Given the description of an element on the screen output the (x, y) to click on. 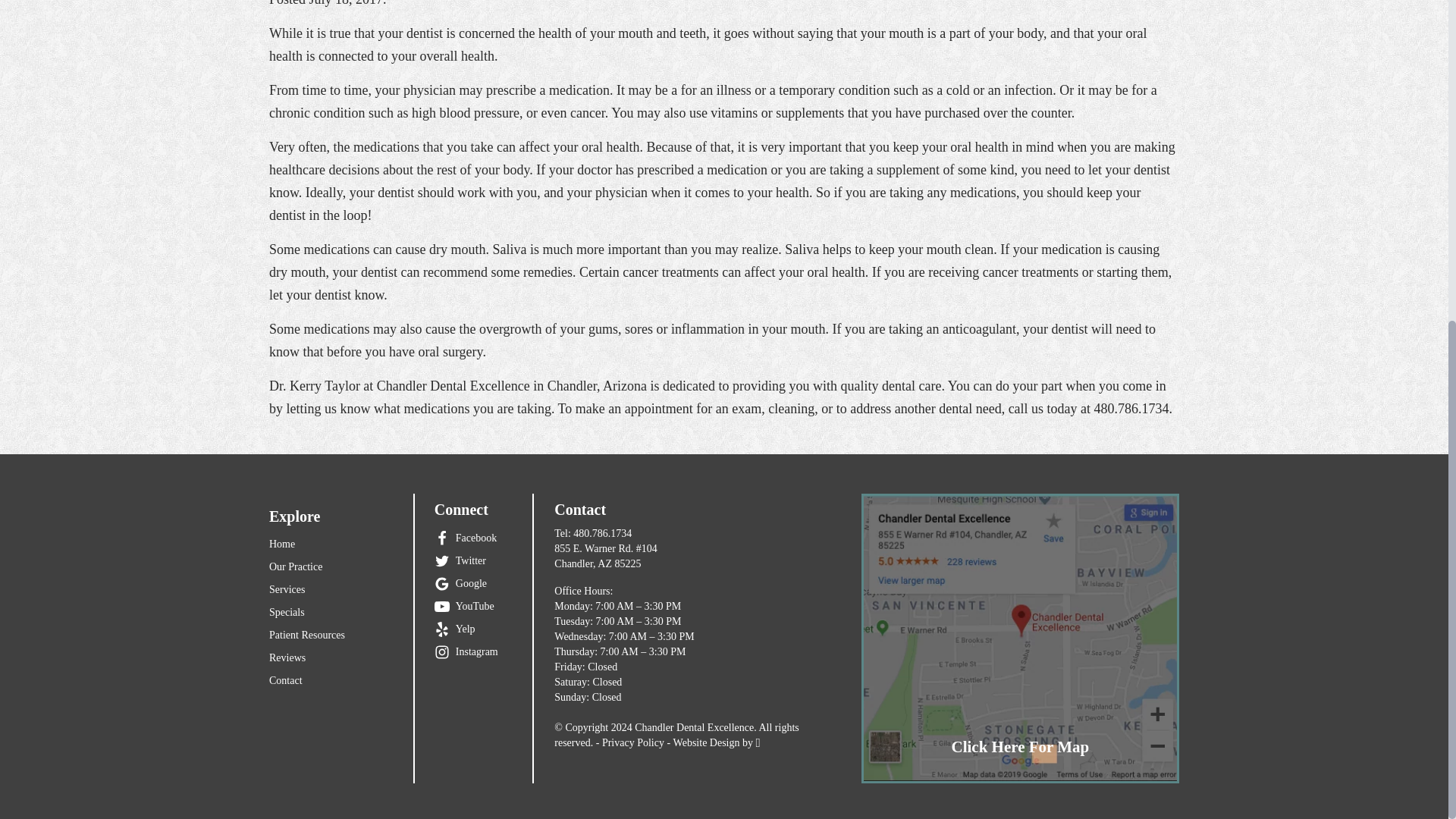
YouTube icon (441, 606)
Facebook icon (441, 538)
Yelp icon (441, 629)
Google icon (441, 583)
Twitter icon (441, 560)
Instagram icon (441, 652)
